Given the description of an element on the screen output the (x, y) to click on. 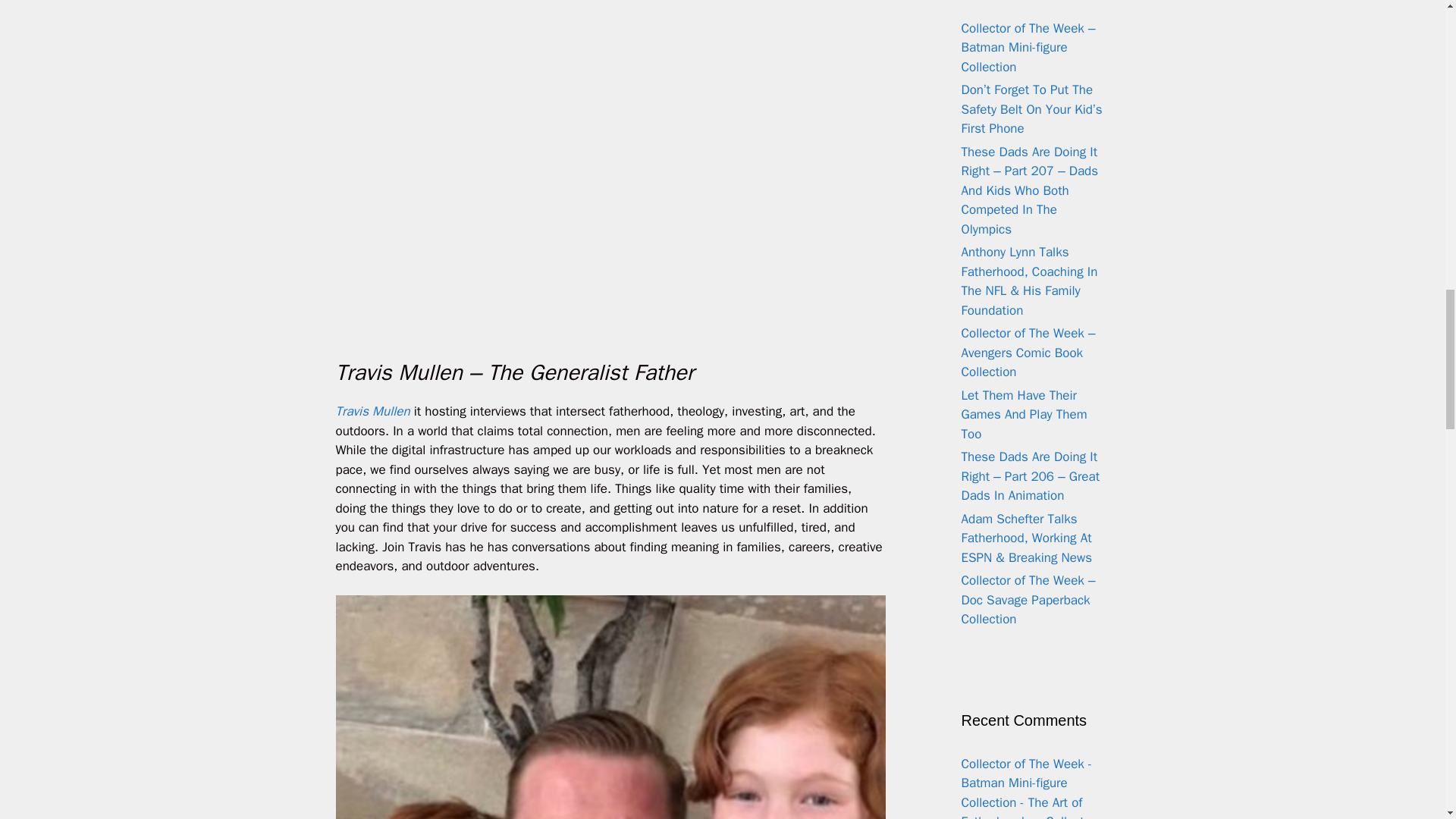
Travis Mullen (371, 411)
